Given the description of an element on the screen output the (x, y) to click on. 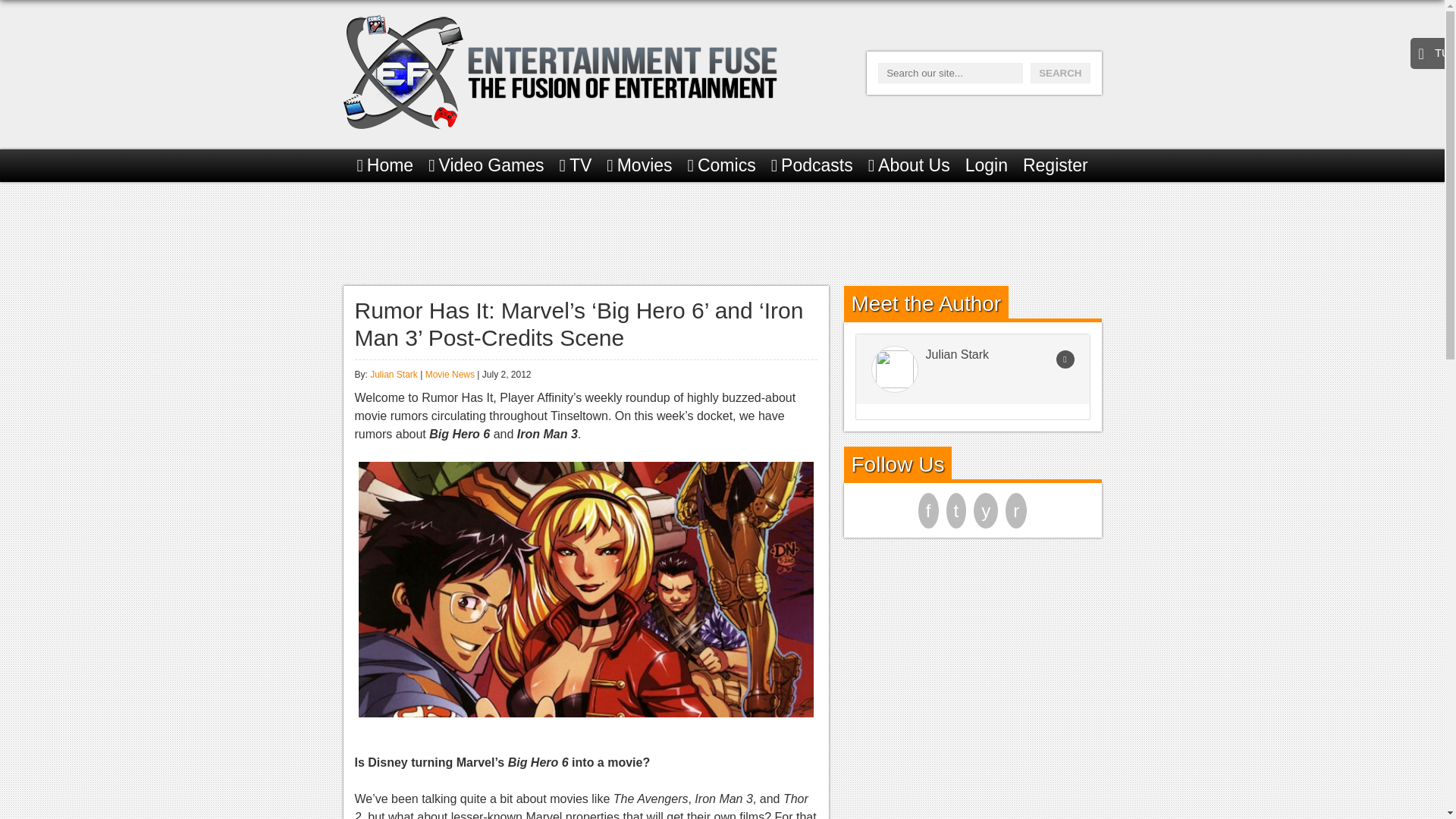
Advertisement (721, 231)
Search (1059, 73)
Comics (721, 165)
Home (384, 165)
Movies (639, 165)
TV (575, 165)
Video Games (485, 165)
Posts by Julian Stark (393, 374)
Search (1059, 73)
